Given the description of an element on the screen output the (x, y) to click on. 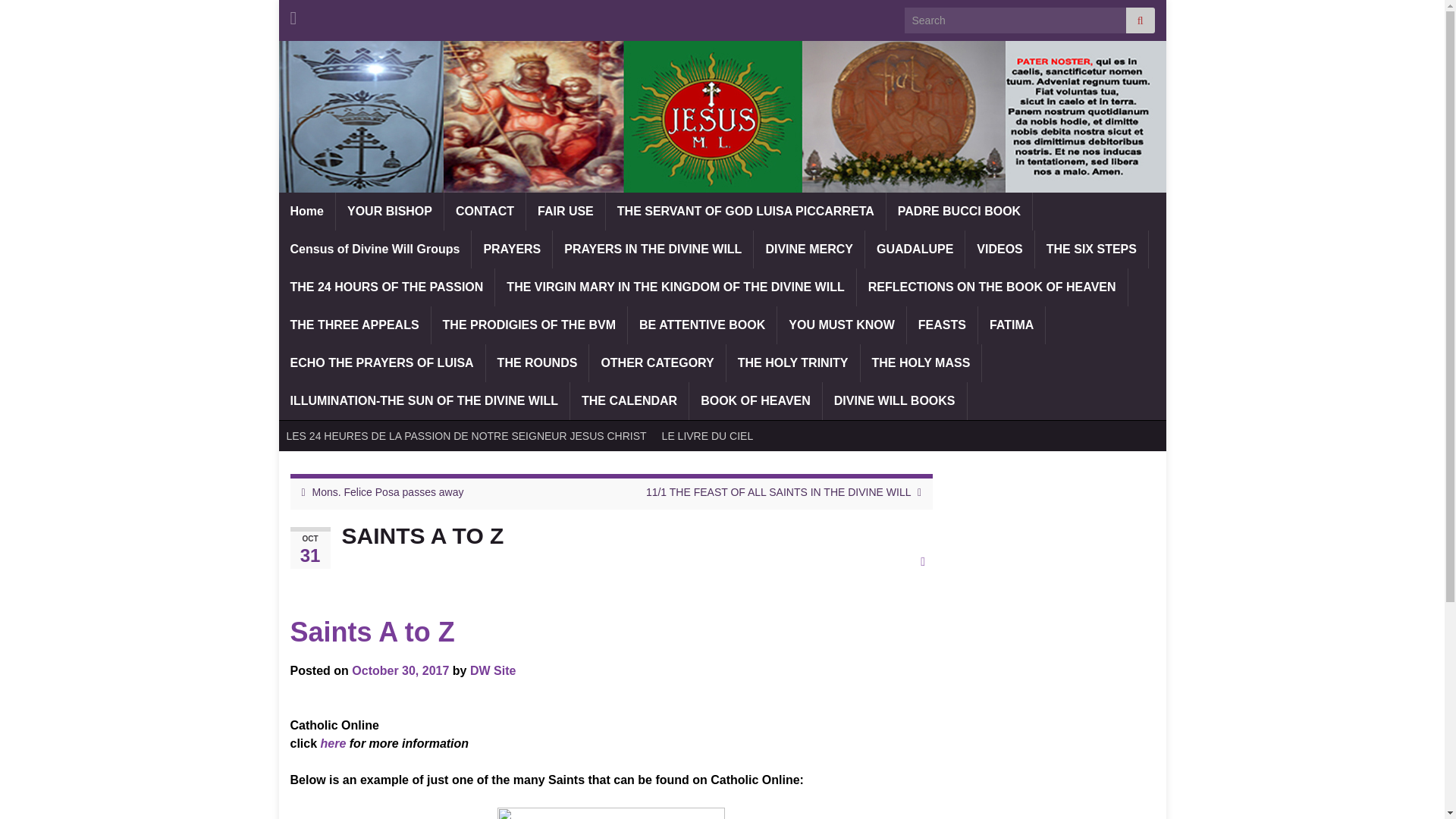
PRAYERS (511, 249)
Census of Divine Will Groups (375, 249)
CONTACT (484, 211)
THE SERVANT OF GOD LUISA PICCARRETA (745, 211)
PADRE BUCCI BOOK (959, 211)
YOUR BISHOP (390, 211)
FAIR USE (565, 211)
Home (306, 211)
GUADALUPE (913, 249)
